Given the description of an element on the screen output the (x, y) to click on. 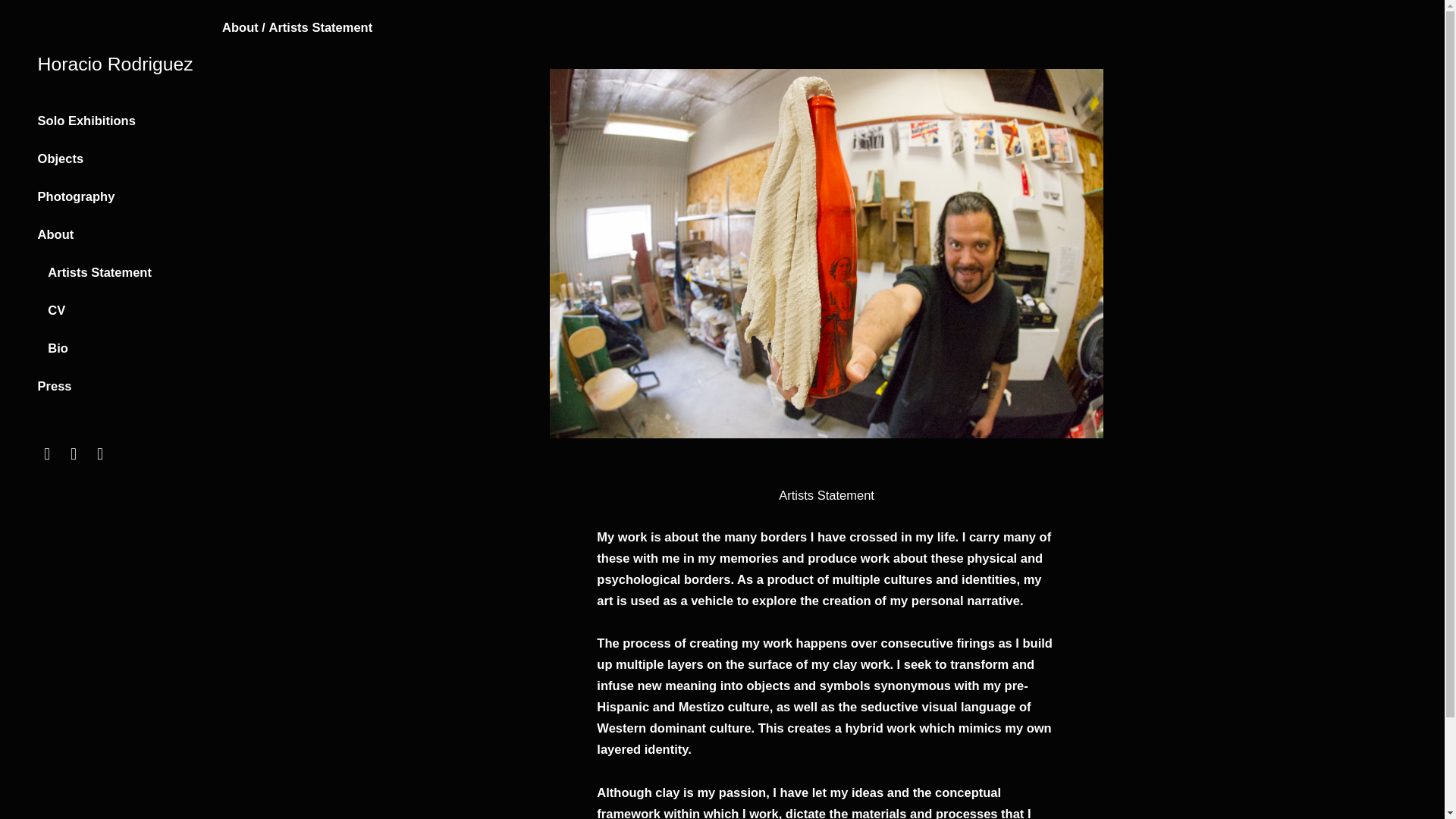
Horacio Rodriguez (115, 64)
Solo Exhibitions (86, 120)
CV (56, 309)
Artists Statement (99, 272)
Objects (60, 158)
About (55, 233)
Photography (76, 196)
Bio (58, 347)
About (240, 27)
Press (54, 386)
